Given the description of an element on the screen output the (x, y) to click on. 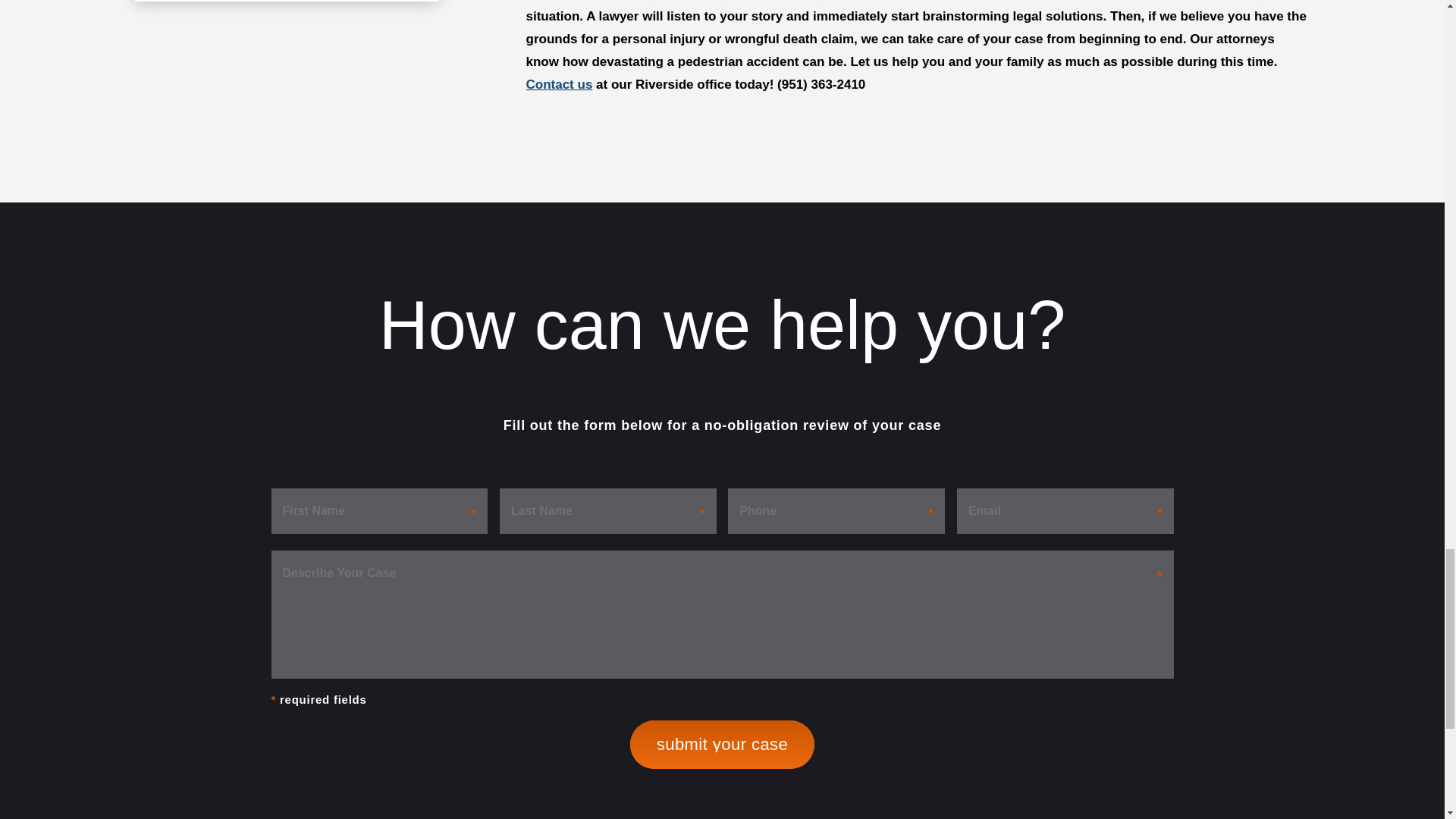
Submit Your Case (722, 744)
